Given the description of an element on the screen output the (x, y) to click on. 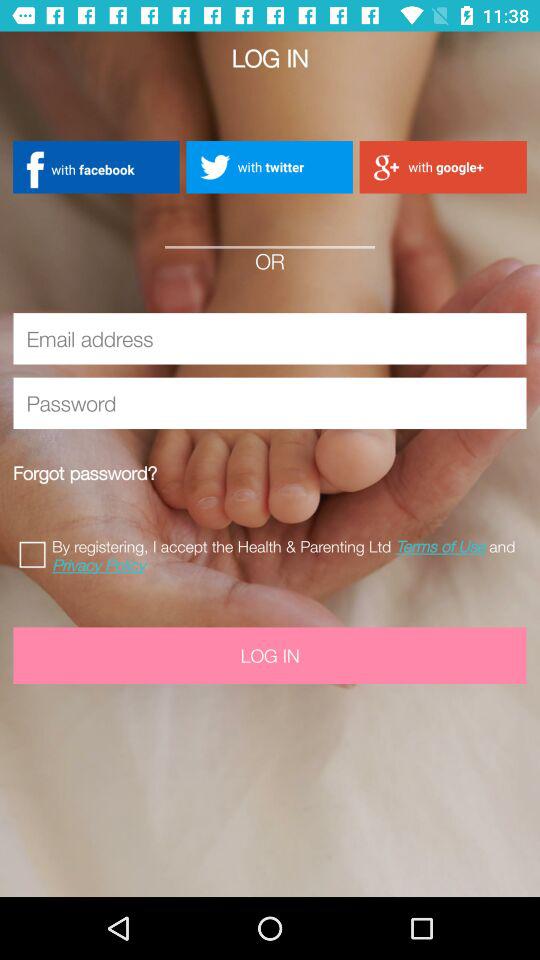
password field (269, 403)
